Given the description of an element on the screen output the (x, y) to click on. 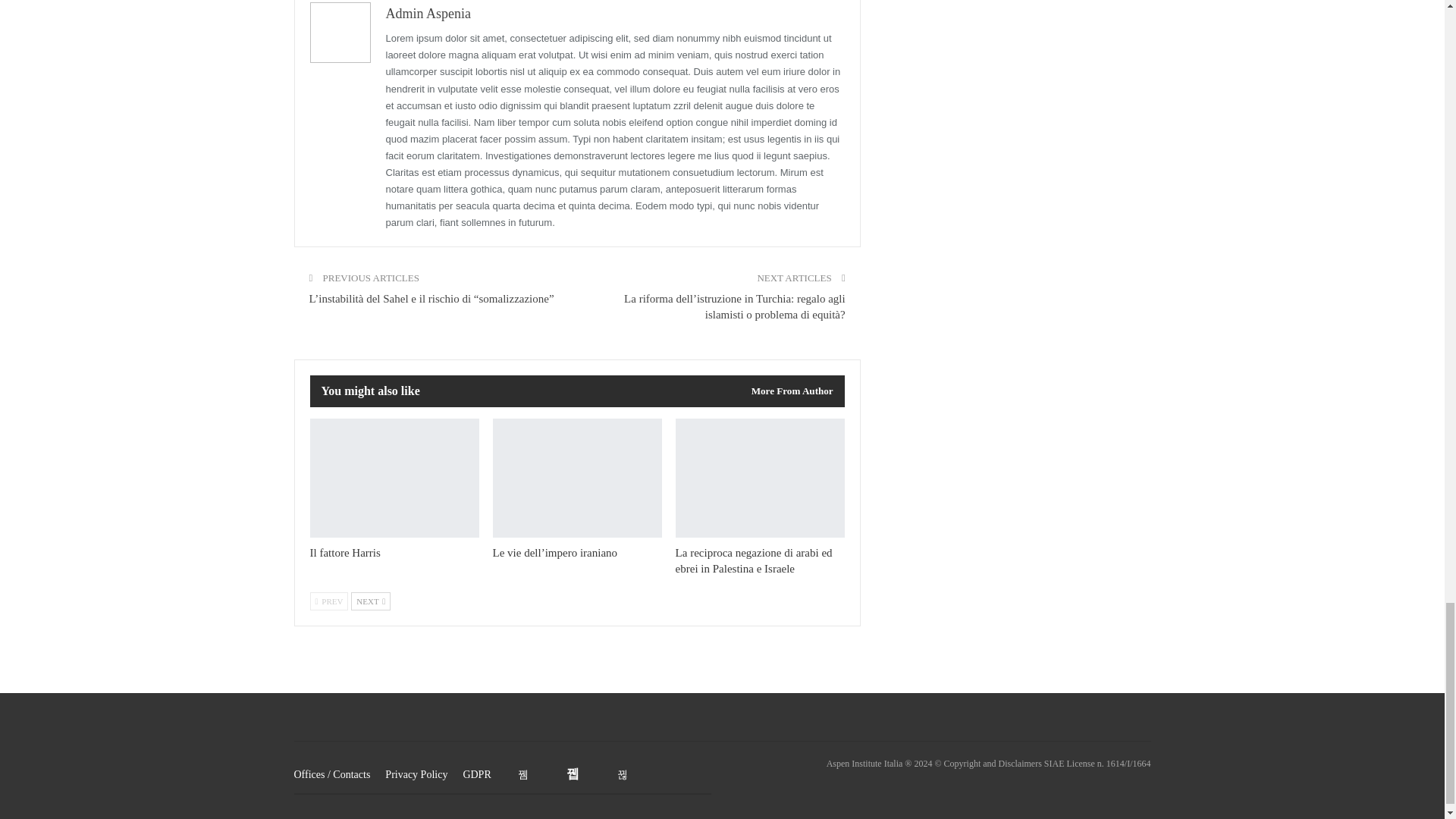
Previous (327, 601)
Il fattore Harris (344, 552)
Next (370, 601)
Il fattore Harris (393, 477)
